Given the description of an element on the screen output the (x, y) to click on. 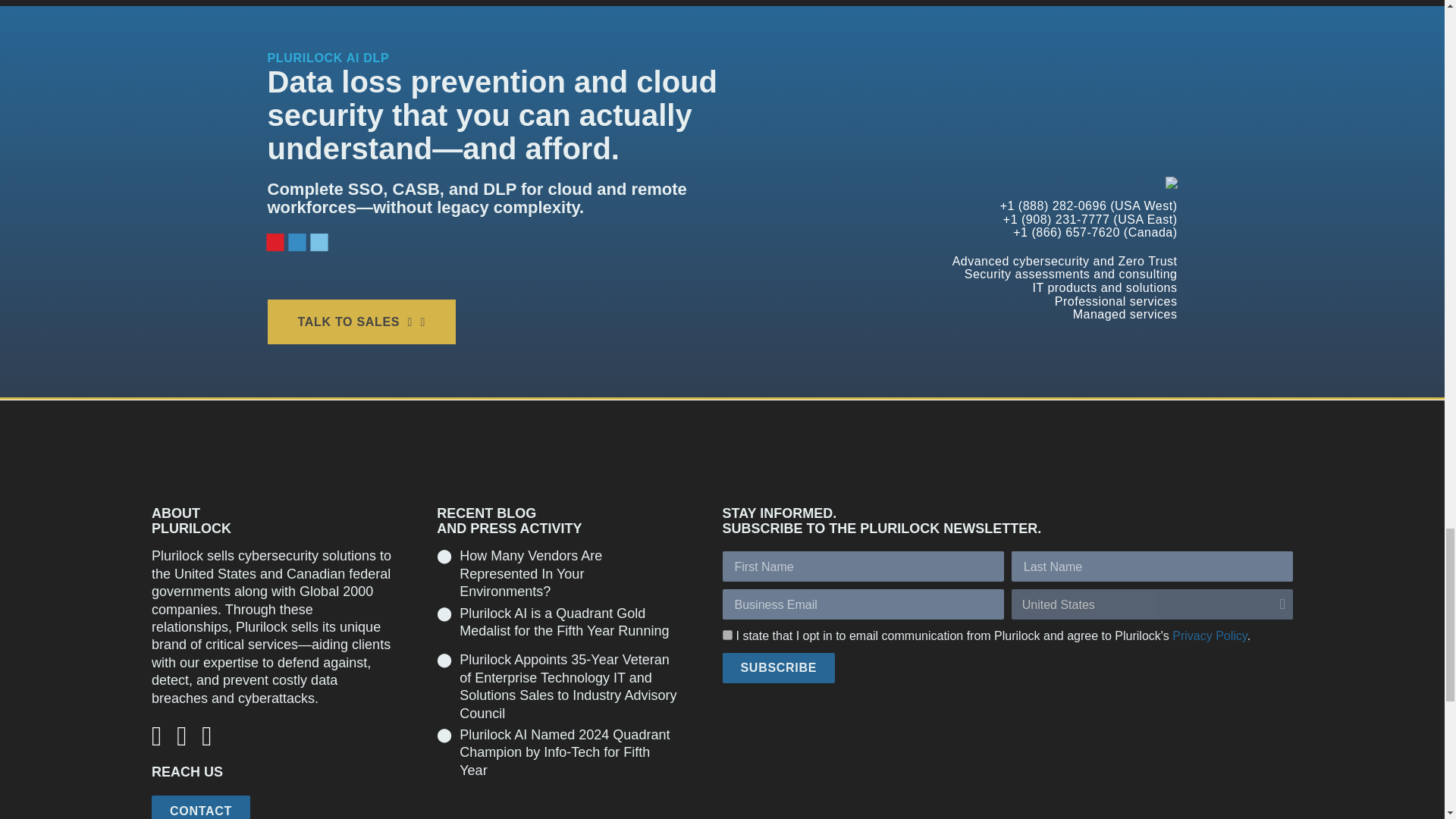
on (727, 634)
